Given the description of an element on the screen output the (x, y) to click on. 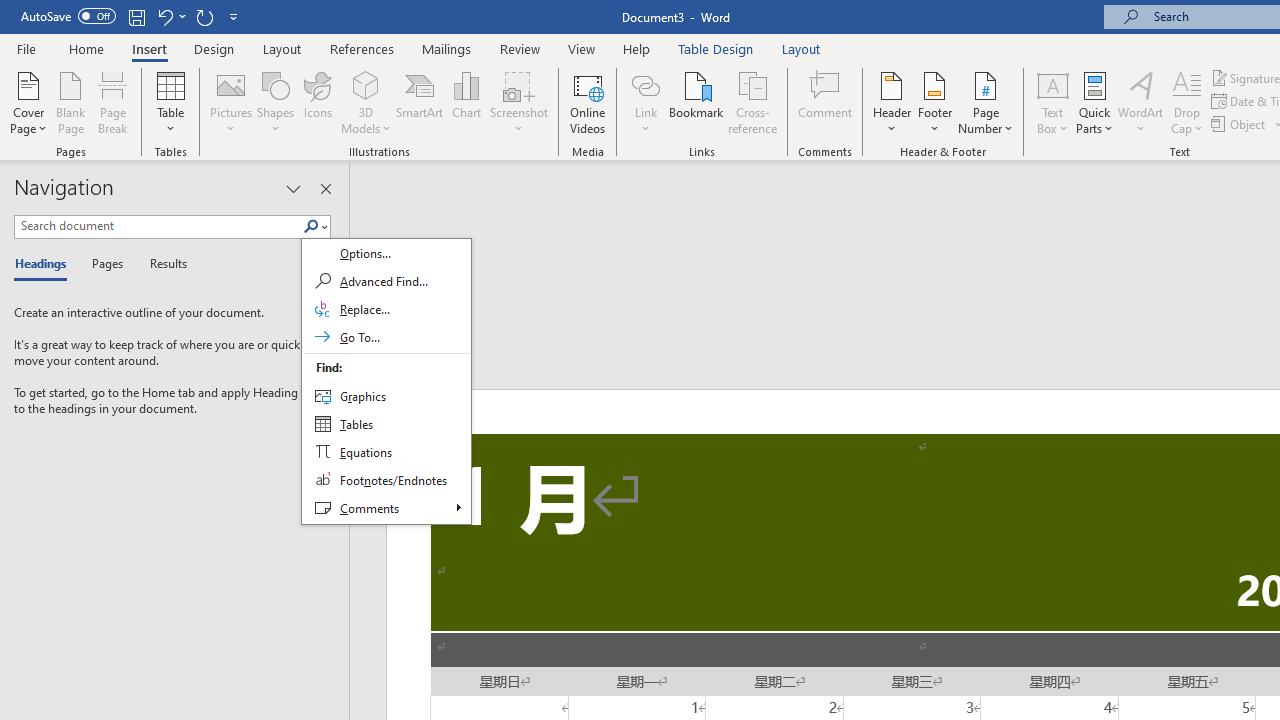
Bookmark... (695, 102)
Link (645, 102)
Screenshot (518, 102)
Shapes (275, 102)
3D Models (366, 102)
Online Videos... (588, 102)
Link (645, 84)
Quick Parts (1094, 102)
Cover Page (28, 102)
